Given the description of an element on the screen output the (x, y) to click on. 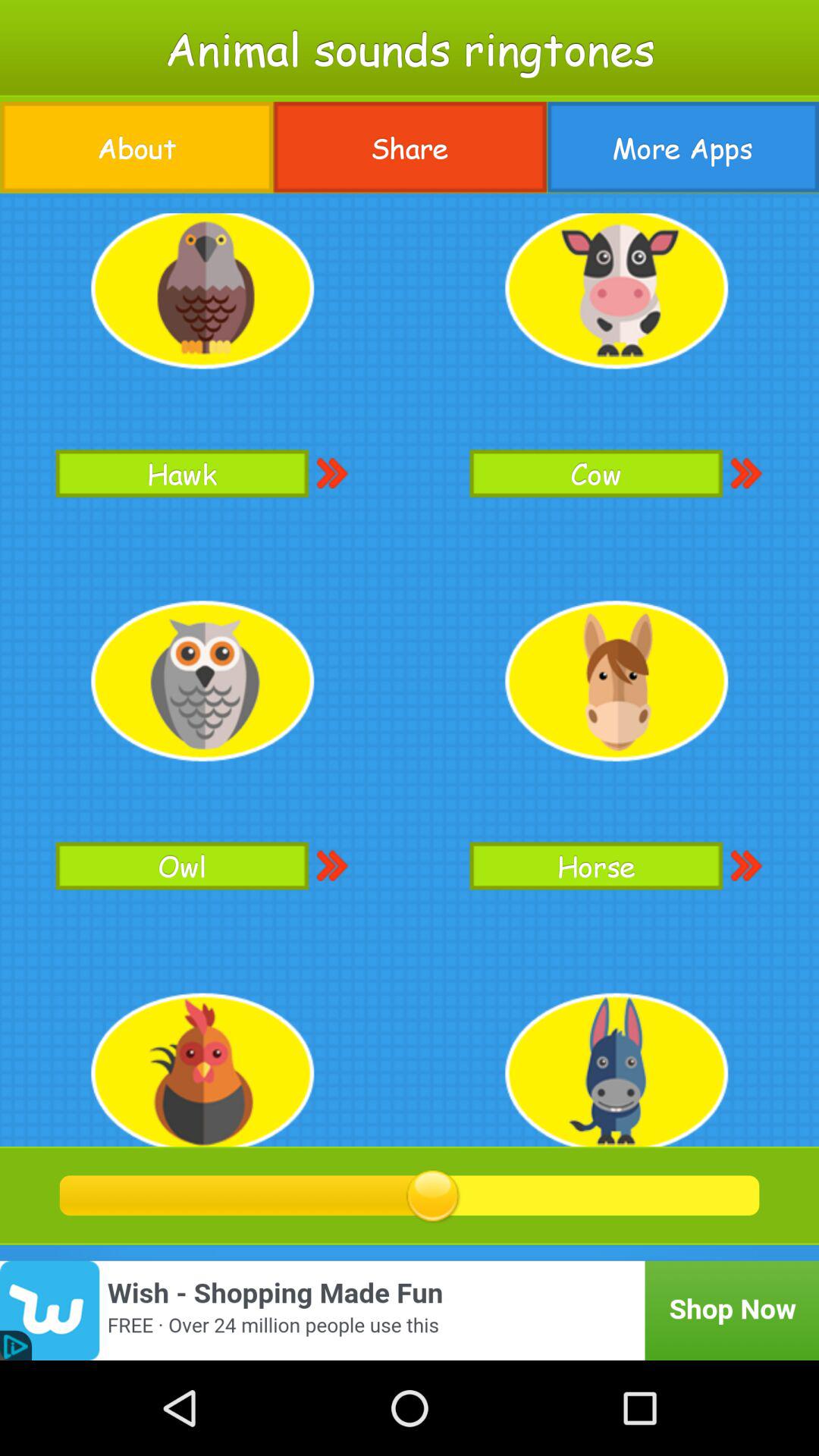
turn off the item below animal sounds ringtones icon (409, 147)
